Given the description of an element on the screen output the (x, y) to click on. 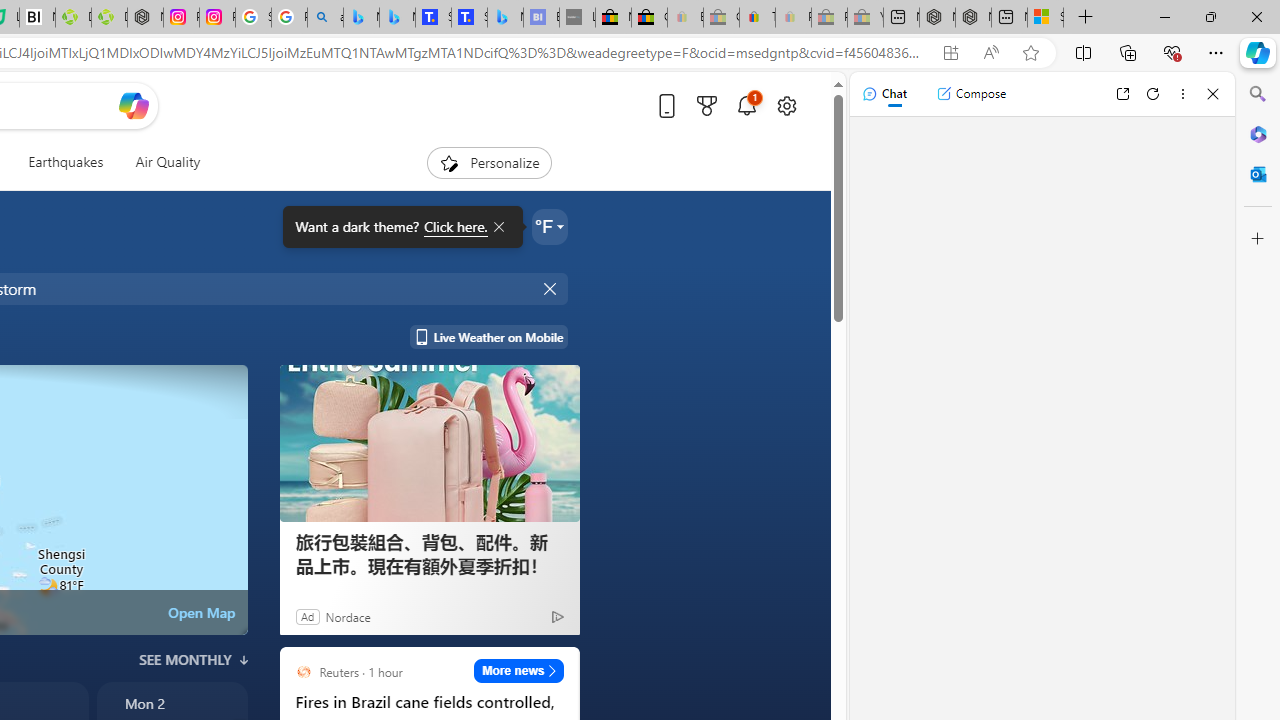
Open settings (786, 105)
Yard, Garden & Outdoor Living - Sleeping (865, 17)
Nvidia va a poner a prueba la paciencia de los inversores (37, 17)
Descarga Driver Updater (109, 17)
Press Room - eBay Inc. - Sleeping (829, 17)
Ad Choice (557, 616)
Microsoft Bing Travel - Shangri-La Hotel Bangkok (505, 17)
Hide (551, 288)
